Given the description of an element on the screen output the (x, y) to click on. 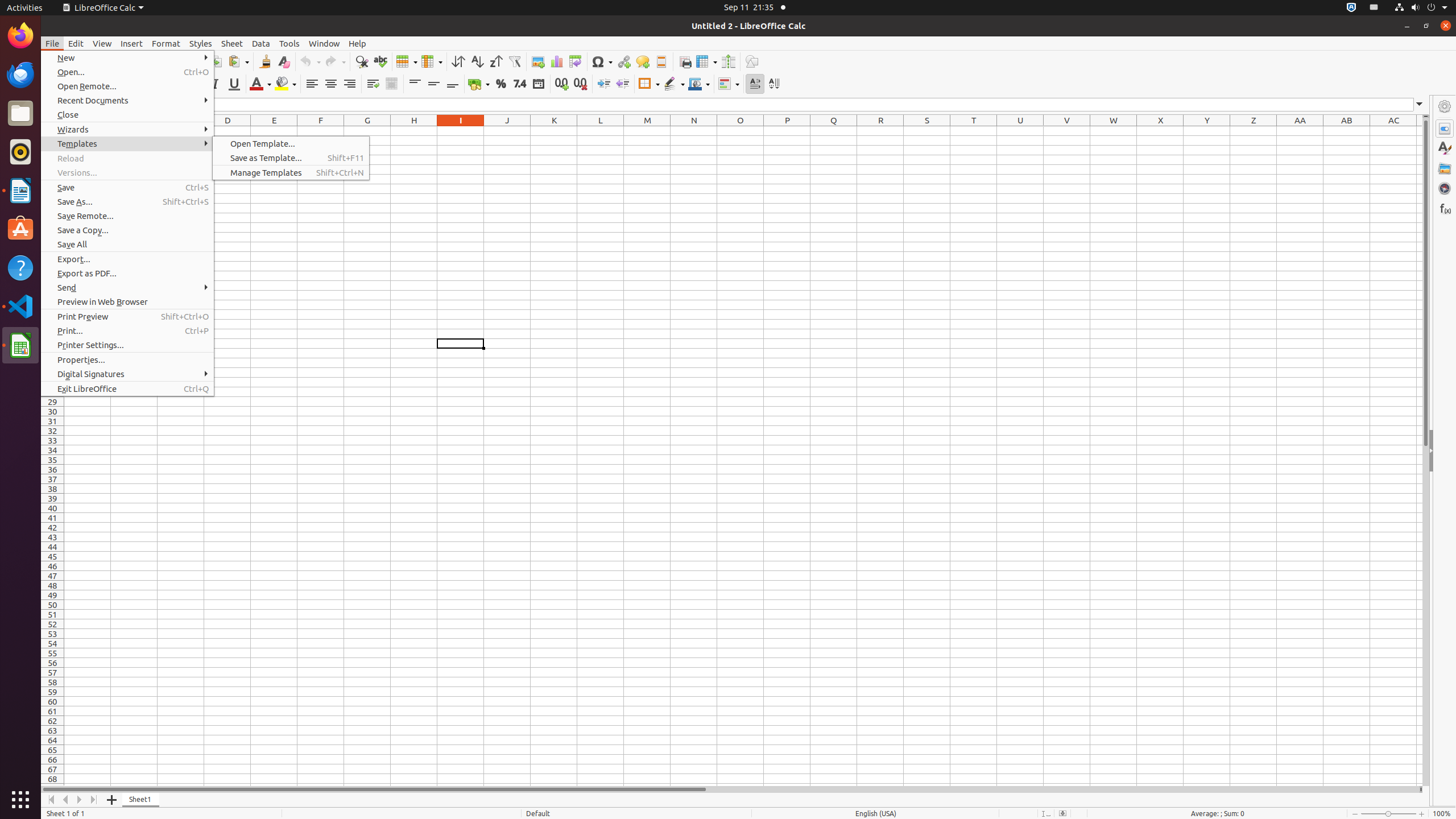
Properties Element type: panel (1444, 450)
Clear Element type: push-button (283, 61)
Q1 Element type: table-cell (833, 130)
